Given the description of an element on the screen output the (x, y) to click on. 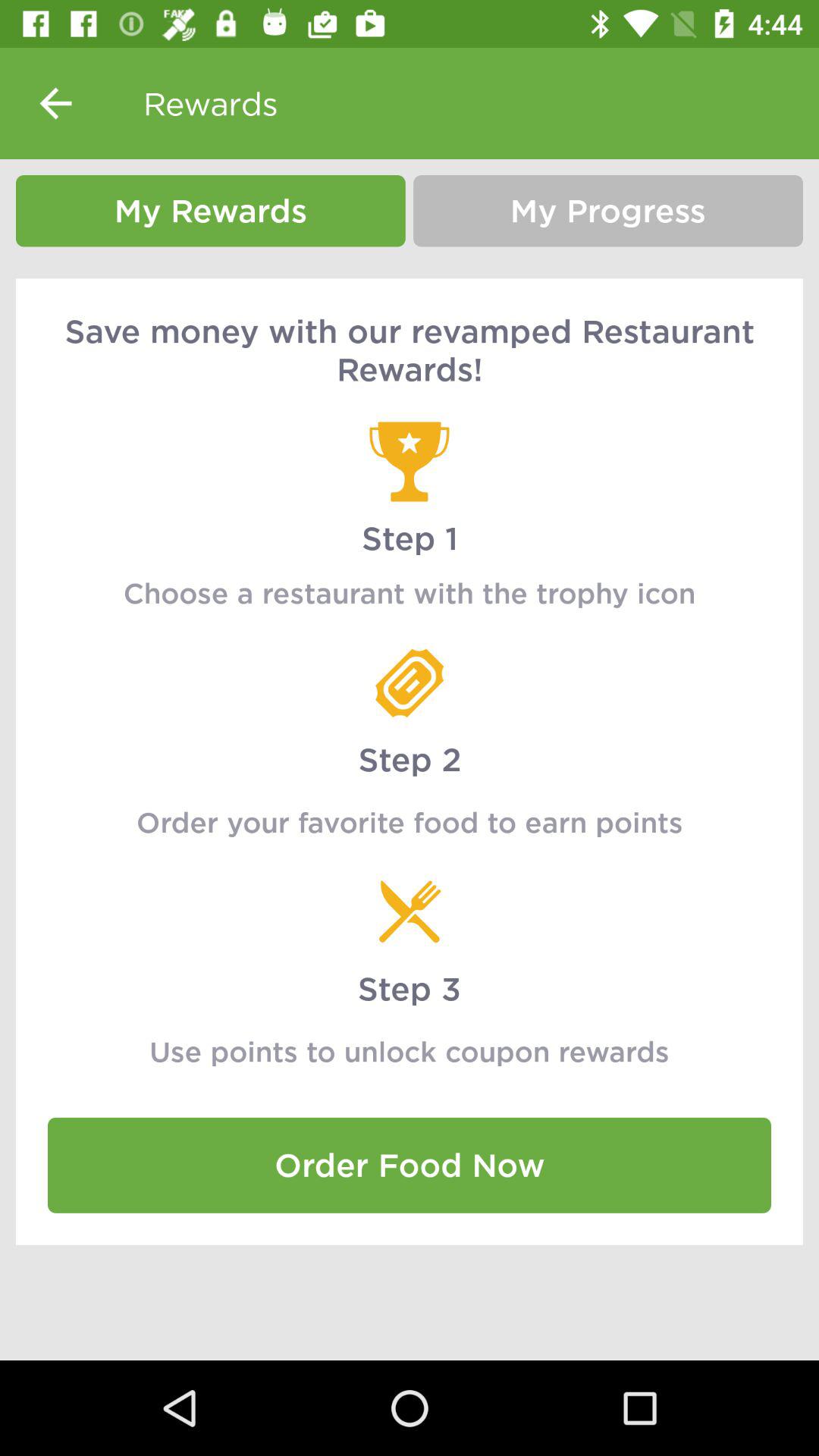
click my progress at the top right corner (608, 210)
